Given the description of an element on the screen output the (x, y) to click on. 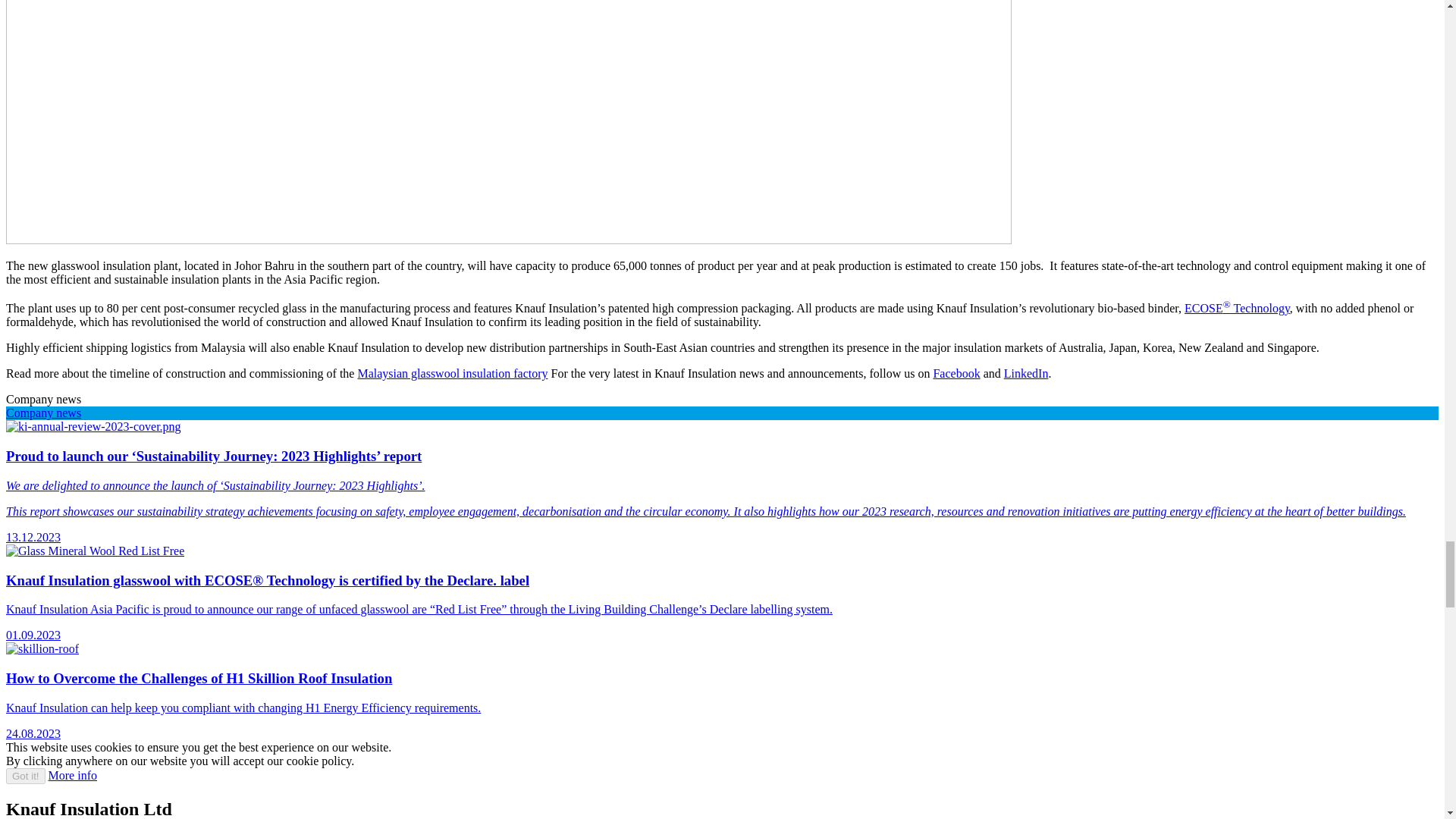
ki-annual-review-2023-cover.png (92, 427)
skillion-roof (41, 649)
Glass Mineral Wool Red List Free (94, 550)
